Given the description of an element on the screen output the (x, y) to click on. 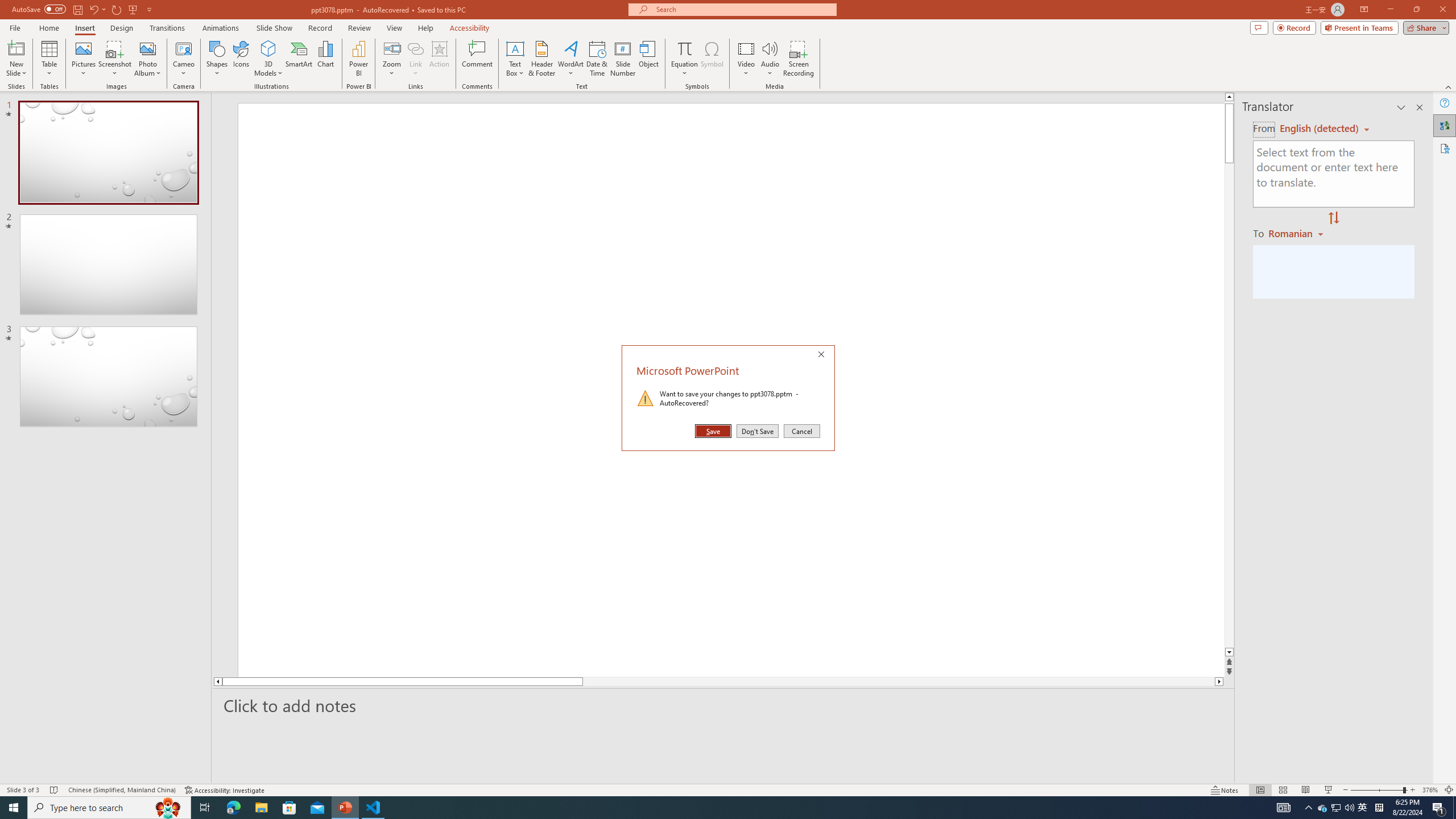
Swap "from" and "to" languages. (1333, 218)
Date & Time... (596, 58)
Screen Recording... (798, 58)
Screenshot (114, 58)
Equation (683, 58)
